Given the description of an element on the screen output the (x, y) to click on. 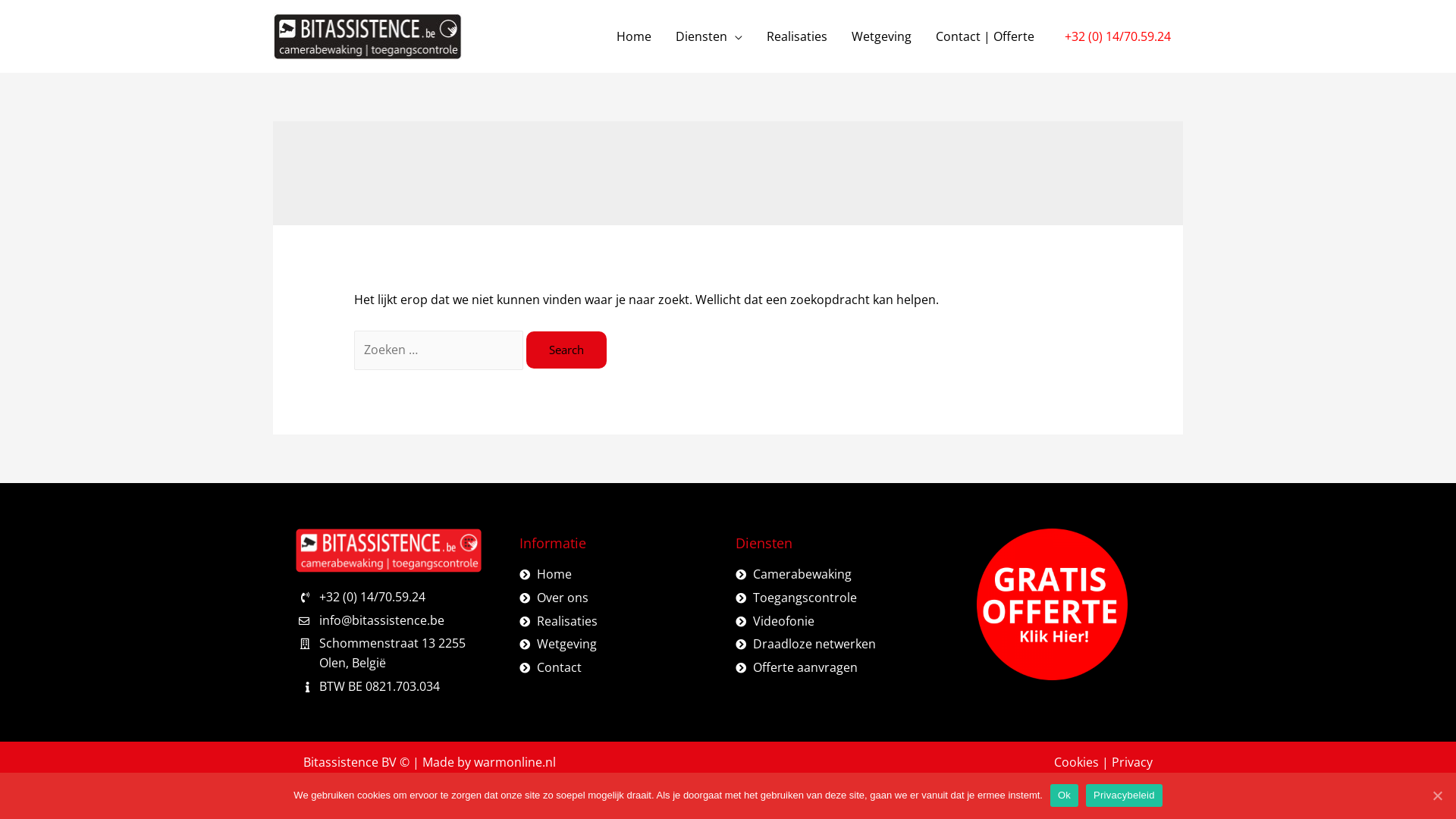
Realisaties Element type: text (796, 36)
Videofonie Element type: text (835, 621)
info@bitassistence.be Element type: text (388, 620)
Contact Element type: text (619, 667)
Home Element type: text (633, 36)
Wetgeving Element type: text (619, 644)
Realisaties Element type: text (619, 621)
Over ons Element type: text (619, 598)
Privacybeleid Element type: text (1123, 795)
Wetgeving Element type: text (881, 36)
+32 (0) 14/70.59.24 Element type: text (388, 597)
Contact | Offerte Element type: text (984, 36)
Camerabewaking Element type: text (835, 574)
Draadloze netwerken Element type: text (835, 644)
Home Element type: text (619, 574)
Search Element type: text (566, 349)
Toegangscontrole Element type: text (835, 598)
Ok Element type: text (1064, 795)
| Made by warmonline.nl Element type: text (483, 761)
Cookies | Privacy Element type: text (1103, 762)
Offerte aanvragen Element type: text (835, 667)
Diensten Element type: text (708, 36)
